Given the description of an element on the screen output the (x, y) to click on. 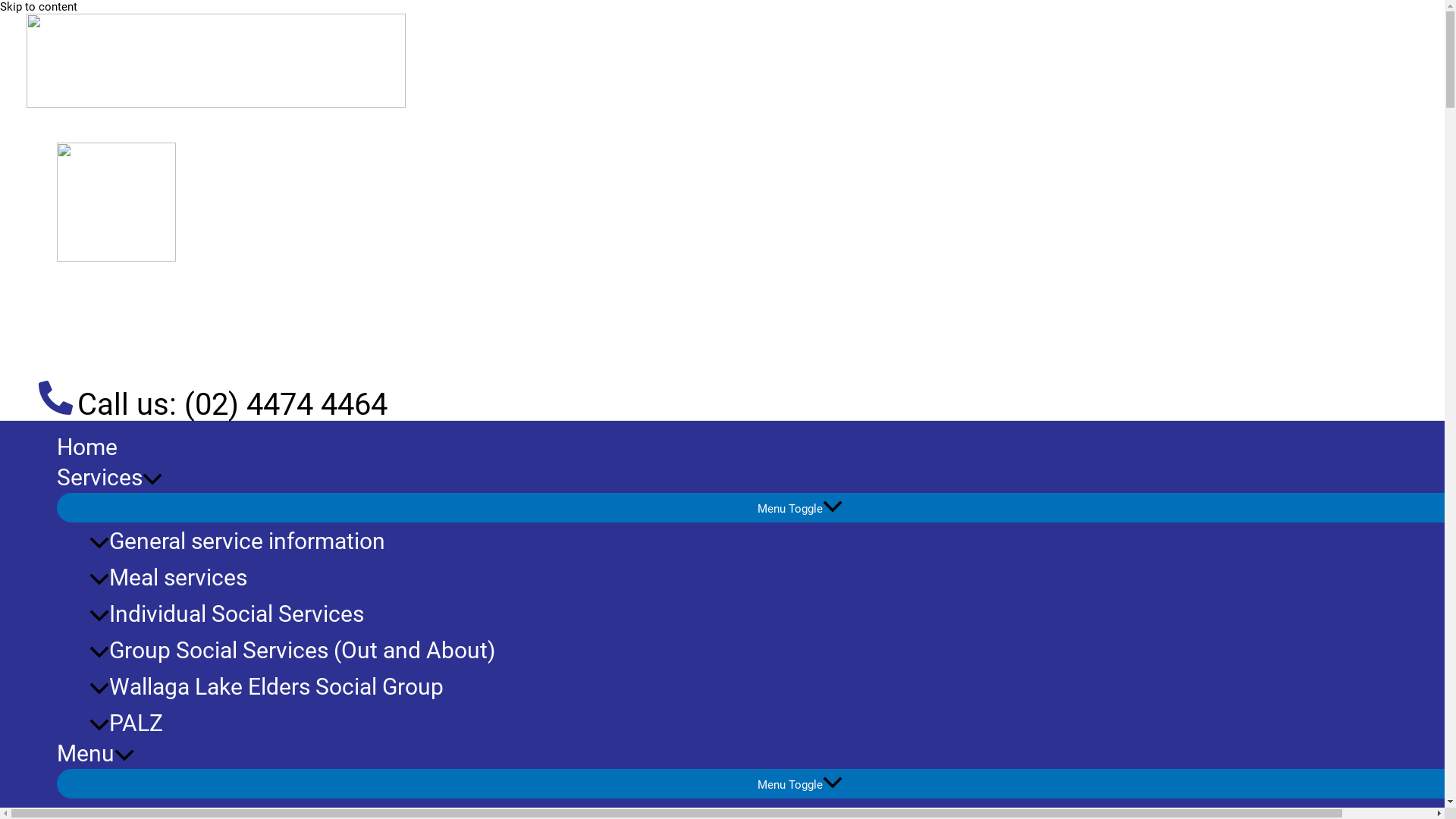
Skip to content Element type: text (38, 6)
Call us: (02) 4474 4464 Element type: text (212, 404)
